Given the description of an element on the screen output the (x, y) to click on. 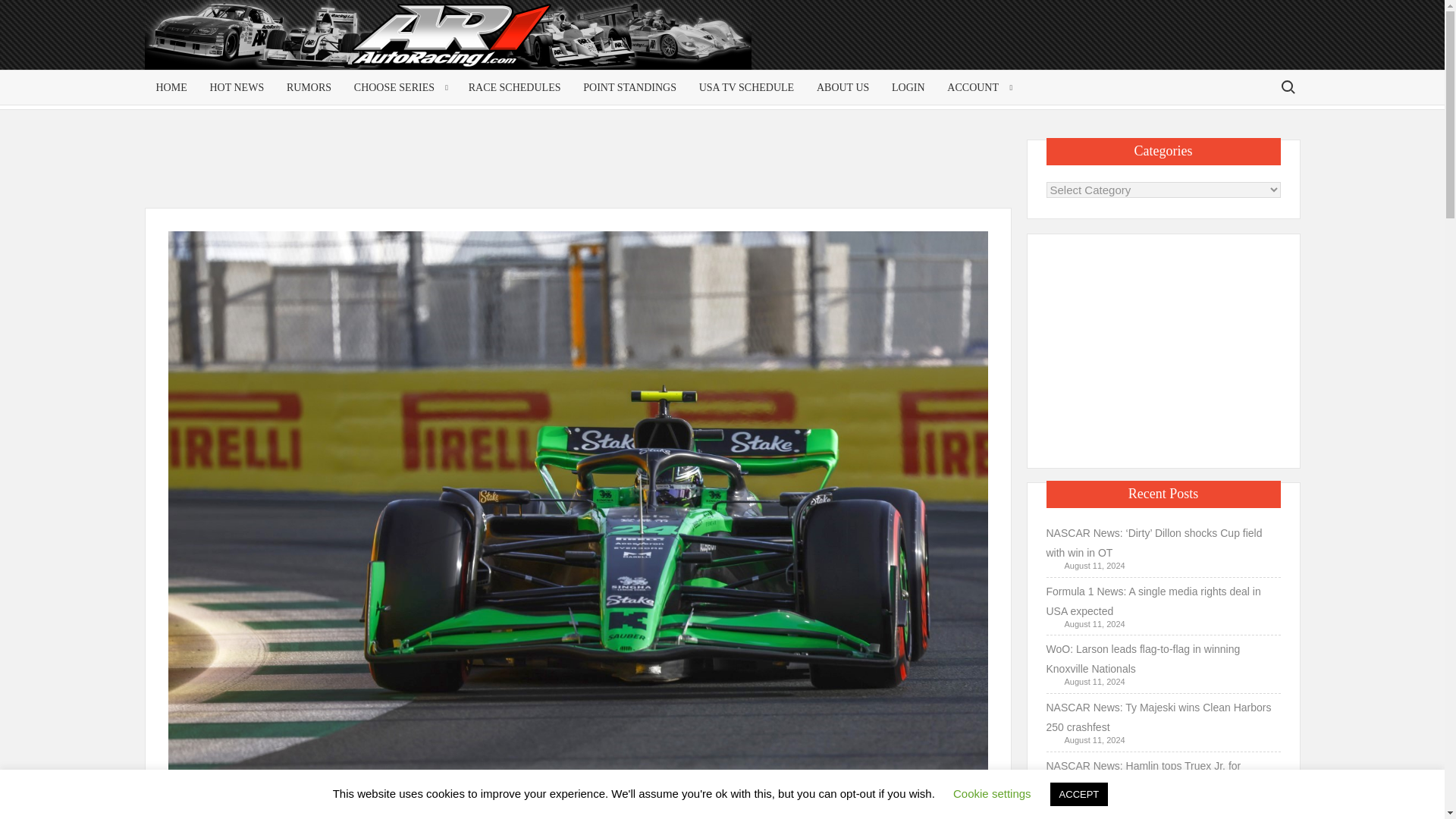
Advertisement (1162, 348)
Advertisement (1178, 46)
AUTORACING1.COM (289, 40)
RUMORS (308, 87)
HOT NEWS (236, 87)
CHOOSE SERIES (399, 87)
HOME (171, 87)
Advertisement (580, 173)
